Given the description of an element on the screen output the (x, y) to click on. 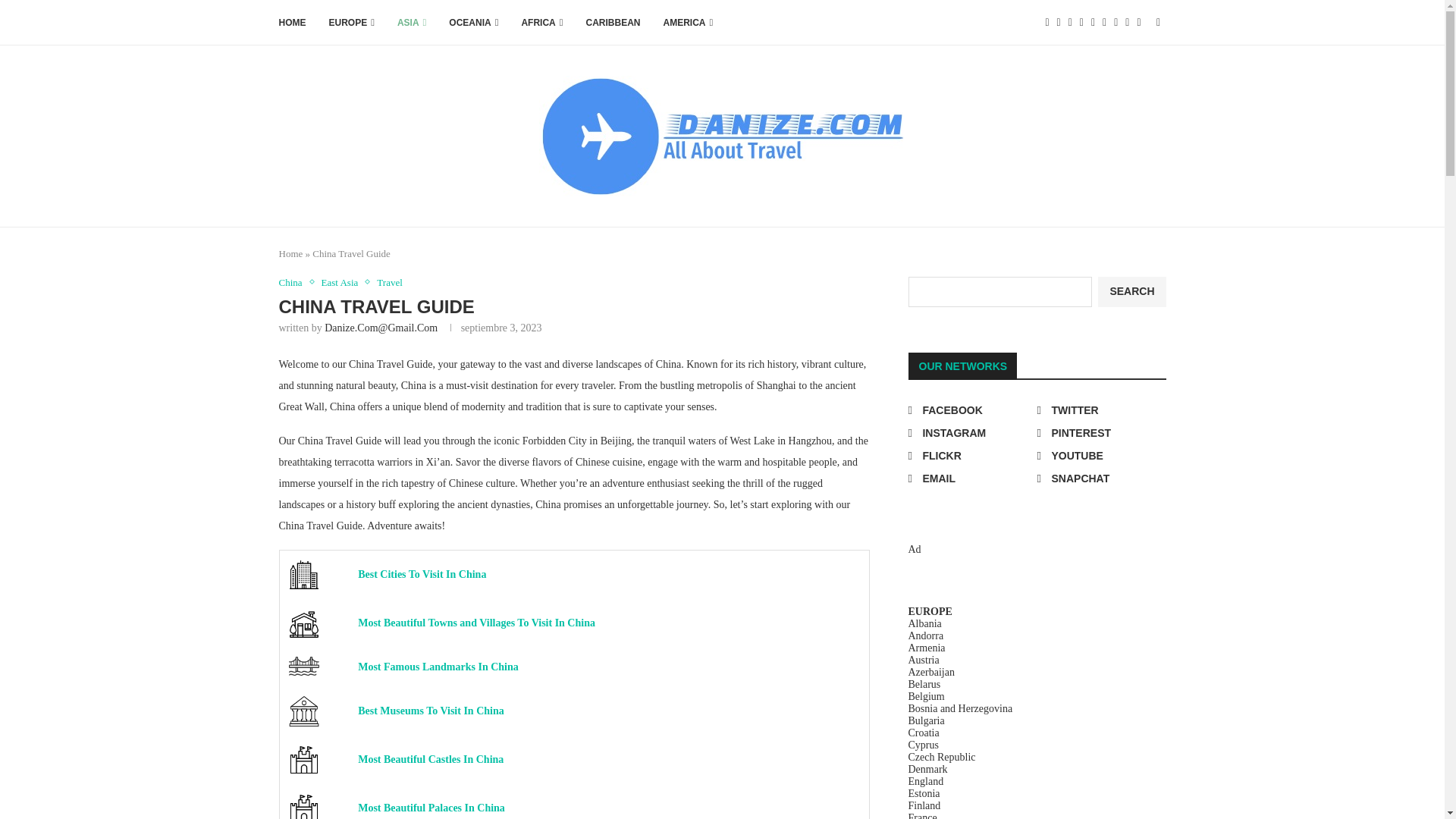
Best Museums To Visit In China (303, 711)
Most Famous Landmarks In China (303, 665)
Best Cities To Visit In China (303, 574)
Most Beautiful Towns and Villages To Visit In China (303, 623)
EUROPE (351, 22)
Most Beautiful Palaces In China (303, 806)
Most Beautiful Castles In China (303, 759)
